Given the description of an element on the screen output the (x, y) to click on. 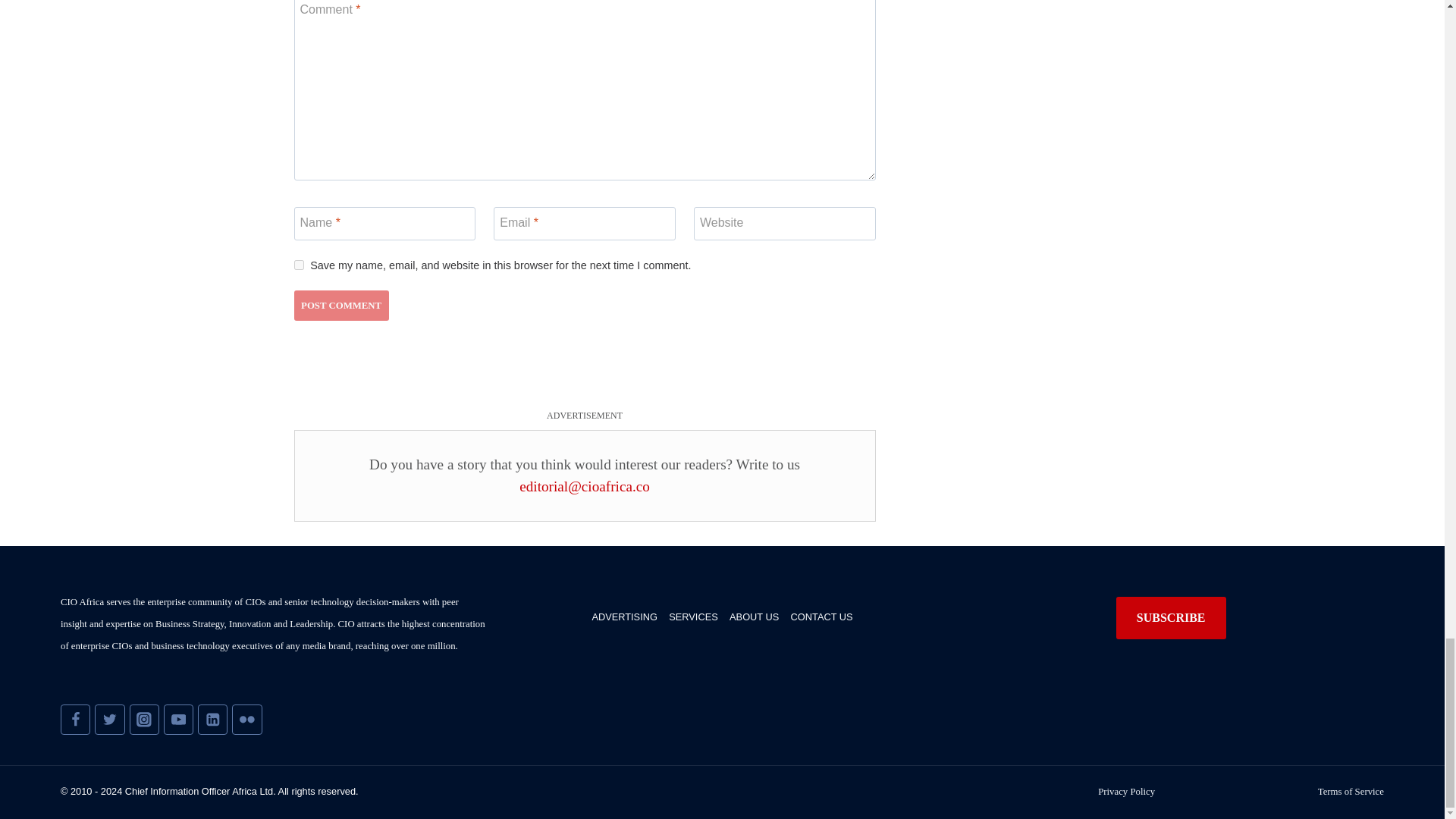
Post Comment (341, 305)
Post Comment (341, 305)
yes (299, 265)
